Given the description of an element on the screen output the (x, y) to click on. 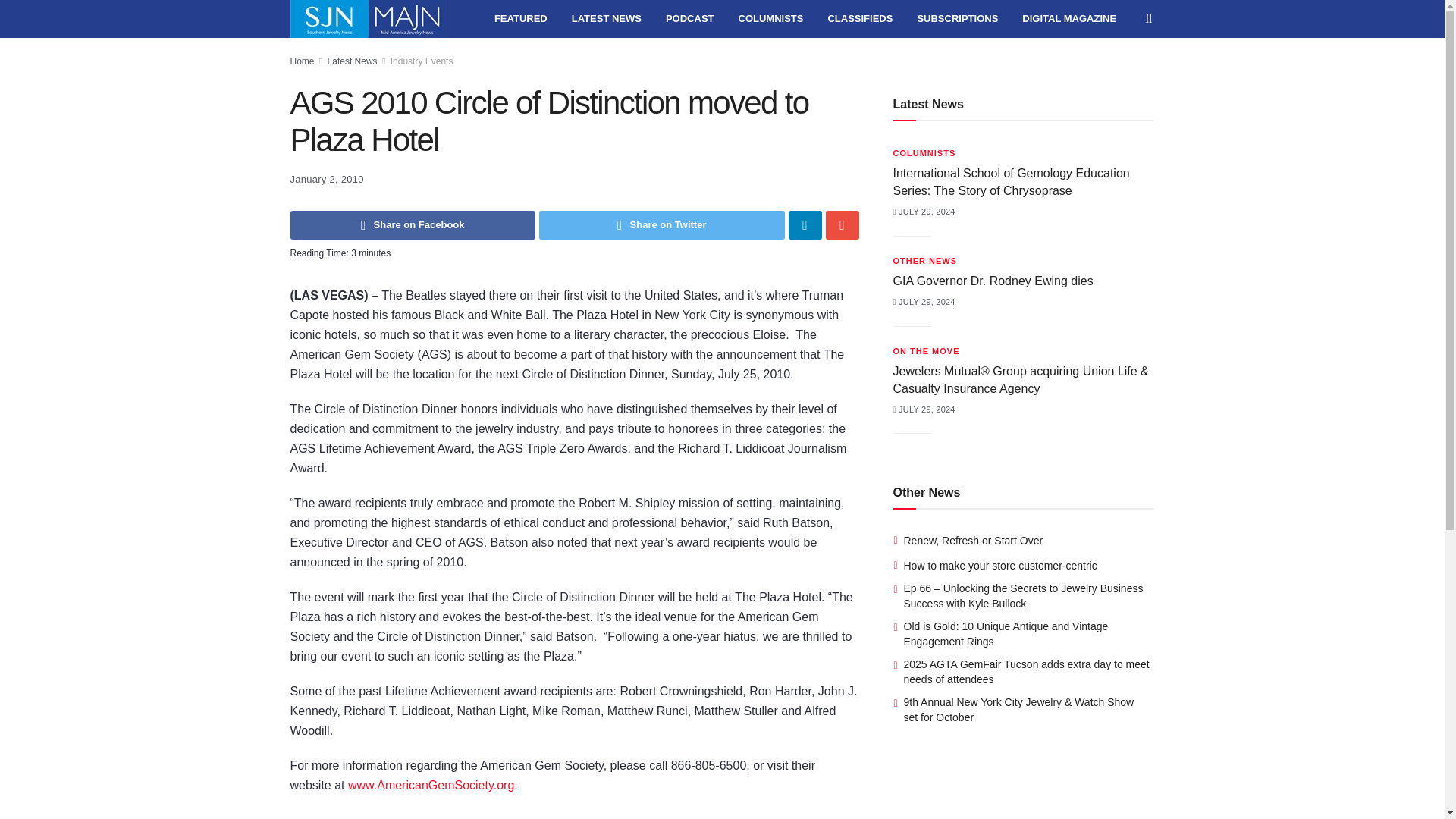
LATEST NEWS (606, 18)
FEATURED (520, 18)
